Given the description of an element on the screen output the (x, y) to click on. 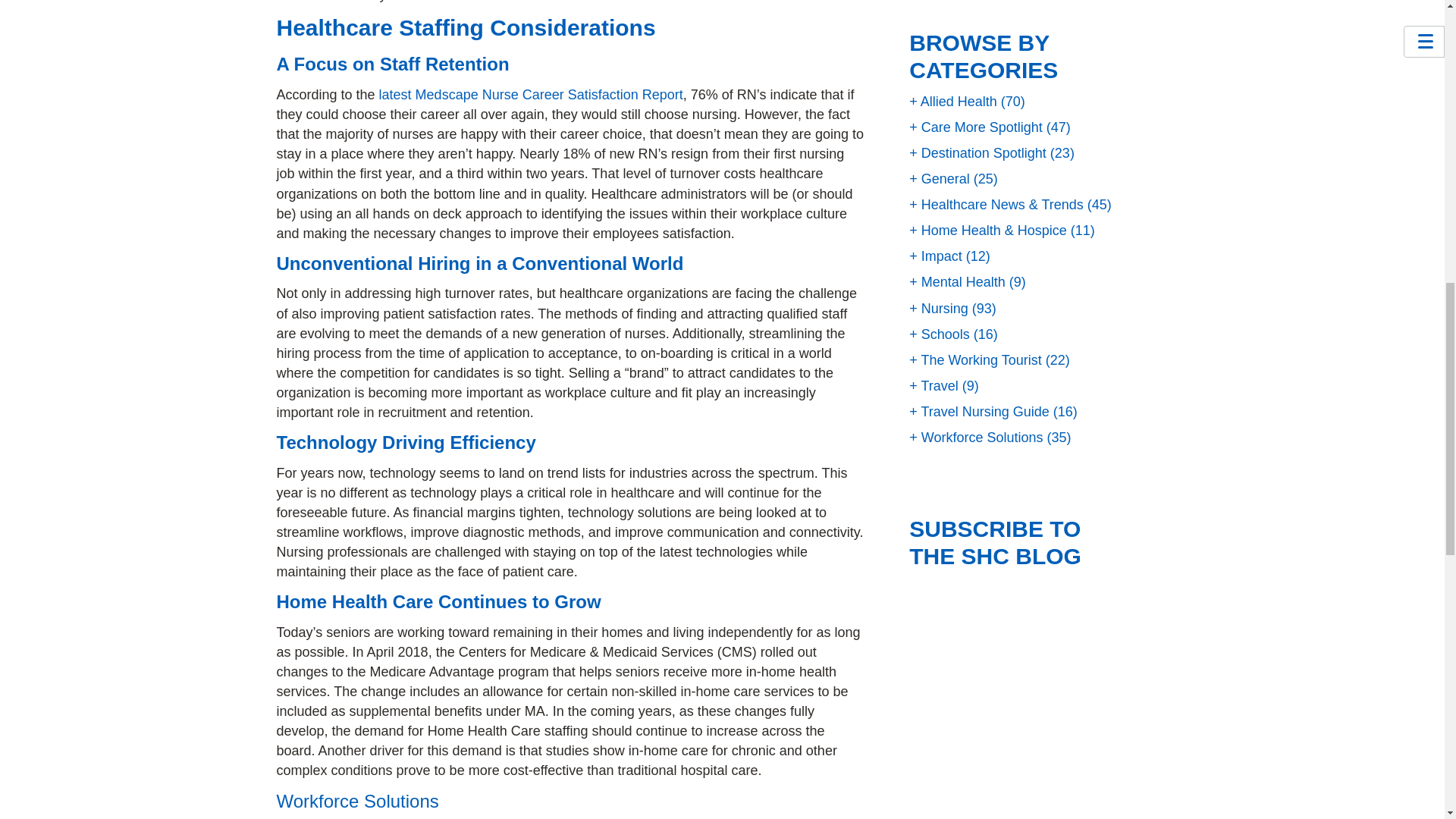
Schools (938, 334)
Care More Spotlight (975, 127)
Allied Health (952, 101)
Nursing (938, 308)
The Working Tourist (975, 359)
General (938, 178)
Travel Nursing Guide (978, 411)
Mental Health (957, 281)
Impact (935, 255)
Destination Spotlight (977, 152)
